Given the description of an element on the screen output the (x, y) to click on. 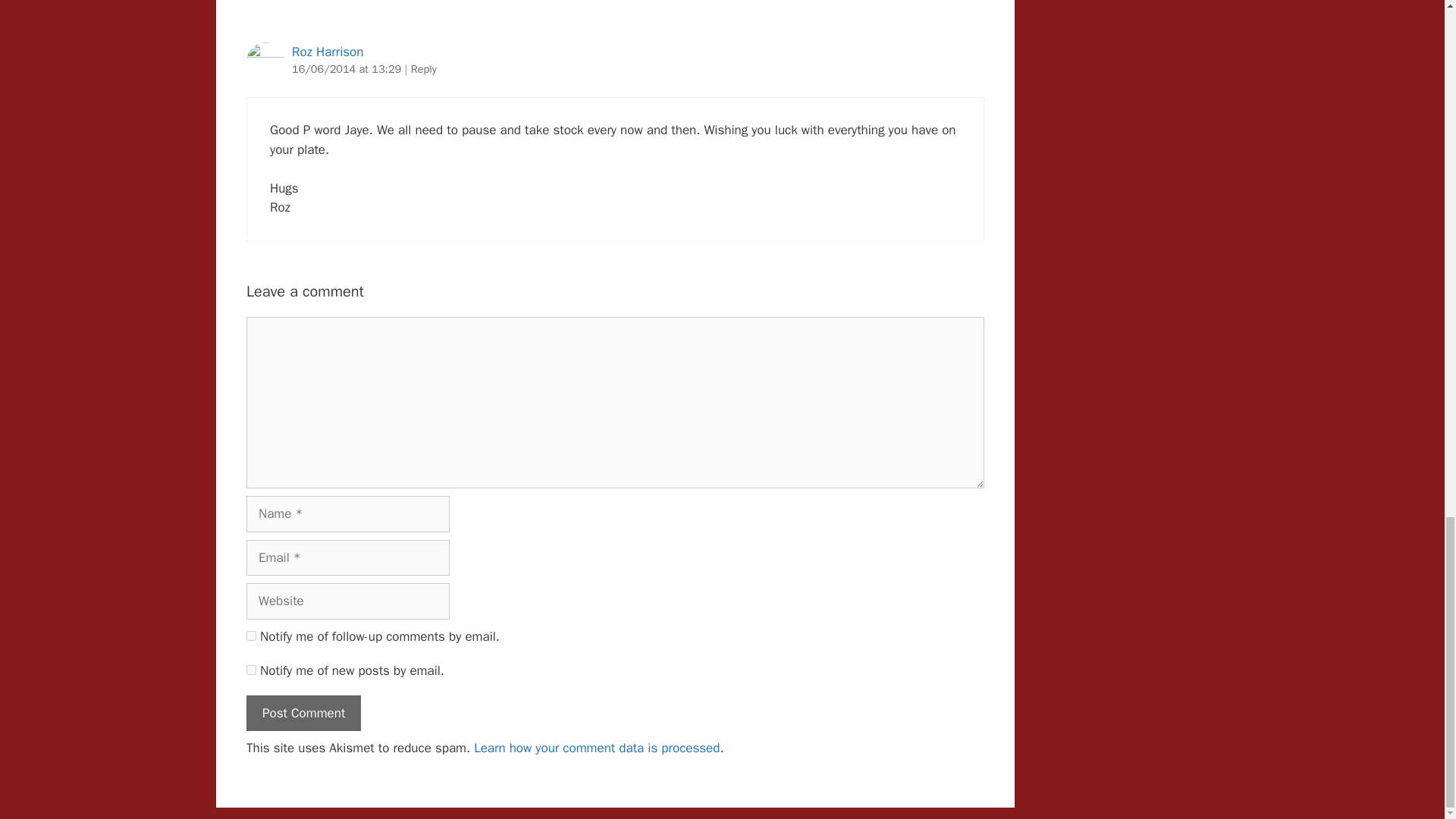
subscribe (251, 635)
subscribe (251, 669)
Post Comment (303, 713)
